Given the description of an element on the screen output the (x, y) to click on. 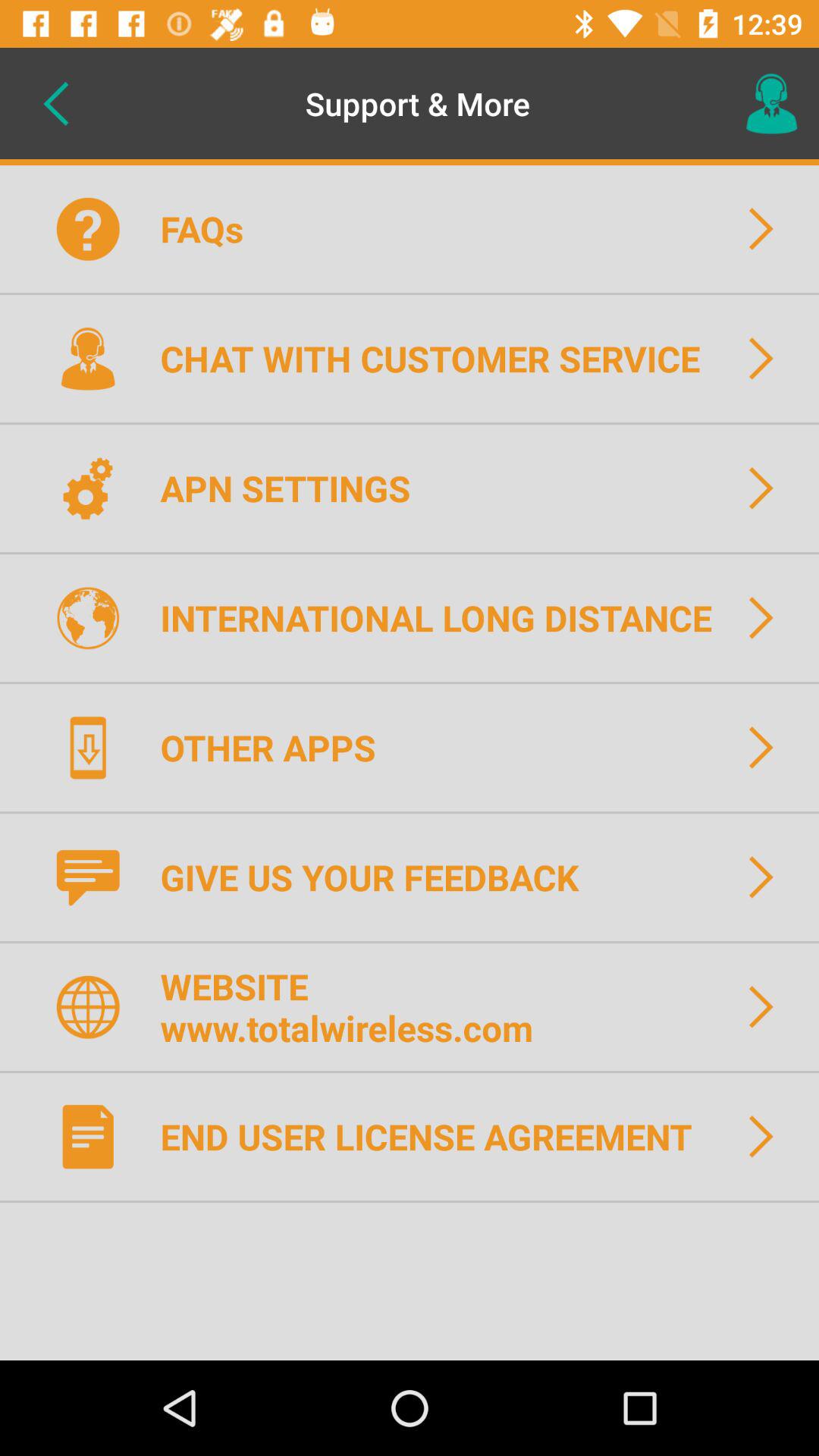
scroll to the apn settings (295, 488)
